Given the description of an element on the screen output the (x, y) to click on. 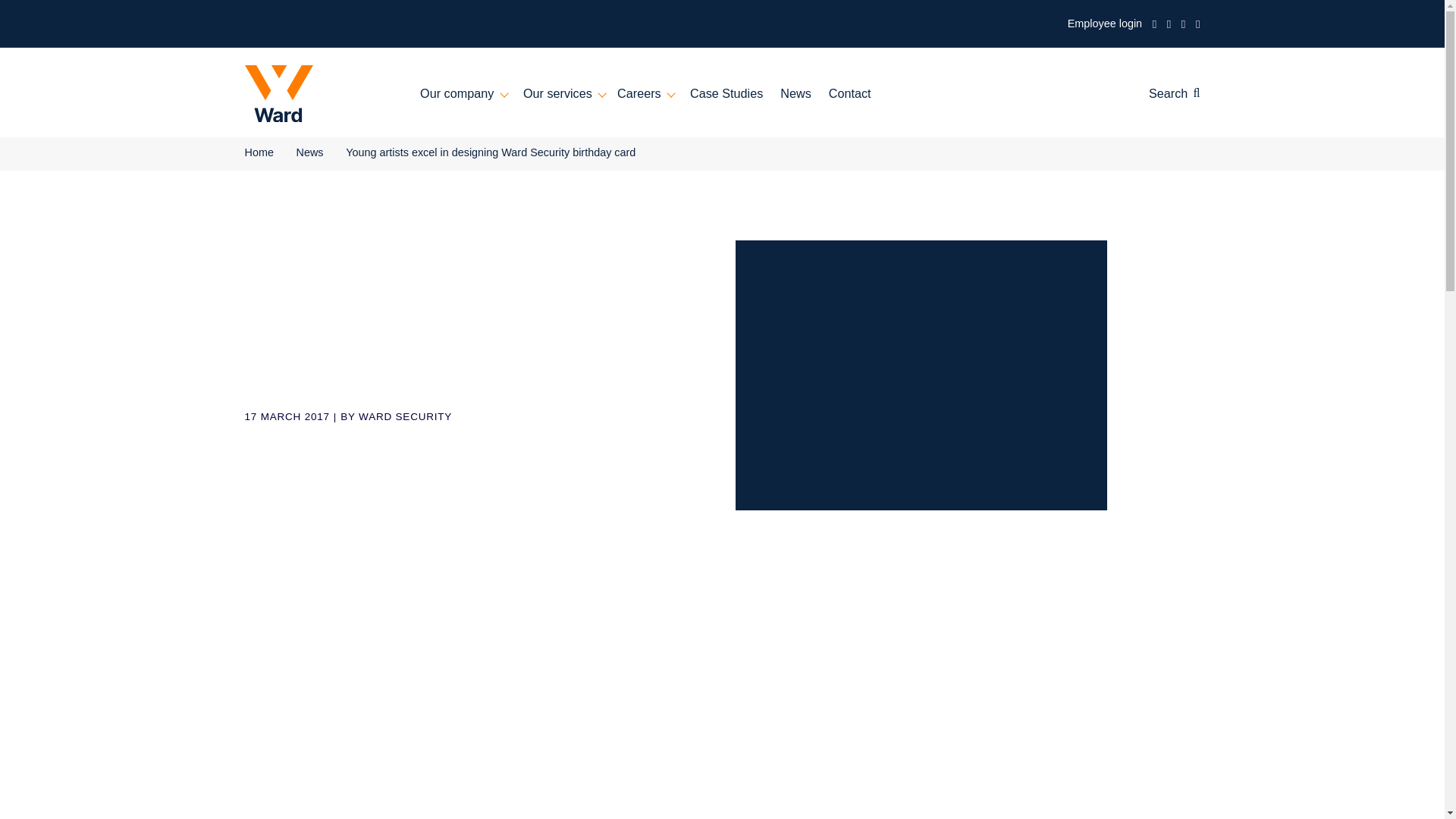
Case Studies (807, 103)
Careers (716, 103)
Our company (514, 103)
Employee login (1227, 26)
Home (287, 169)
News (884, 103)
Young artists excel in designing Ward Security birthday card (545, 169)
Our services (625, 103)
Search (1304, 104)
Contact (944, 103)
